Given the description of an element on the screen output the (x, y) to click on. 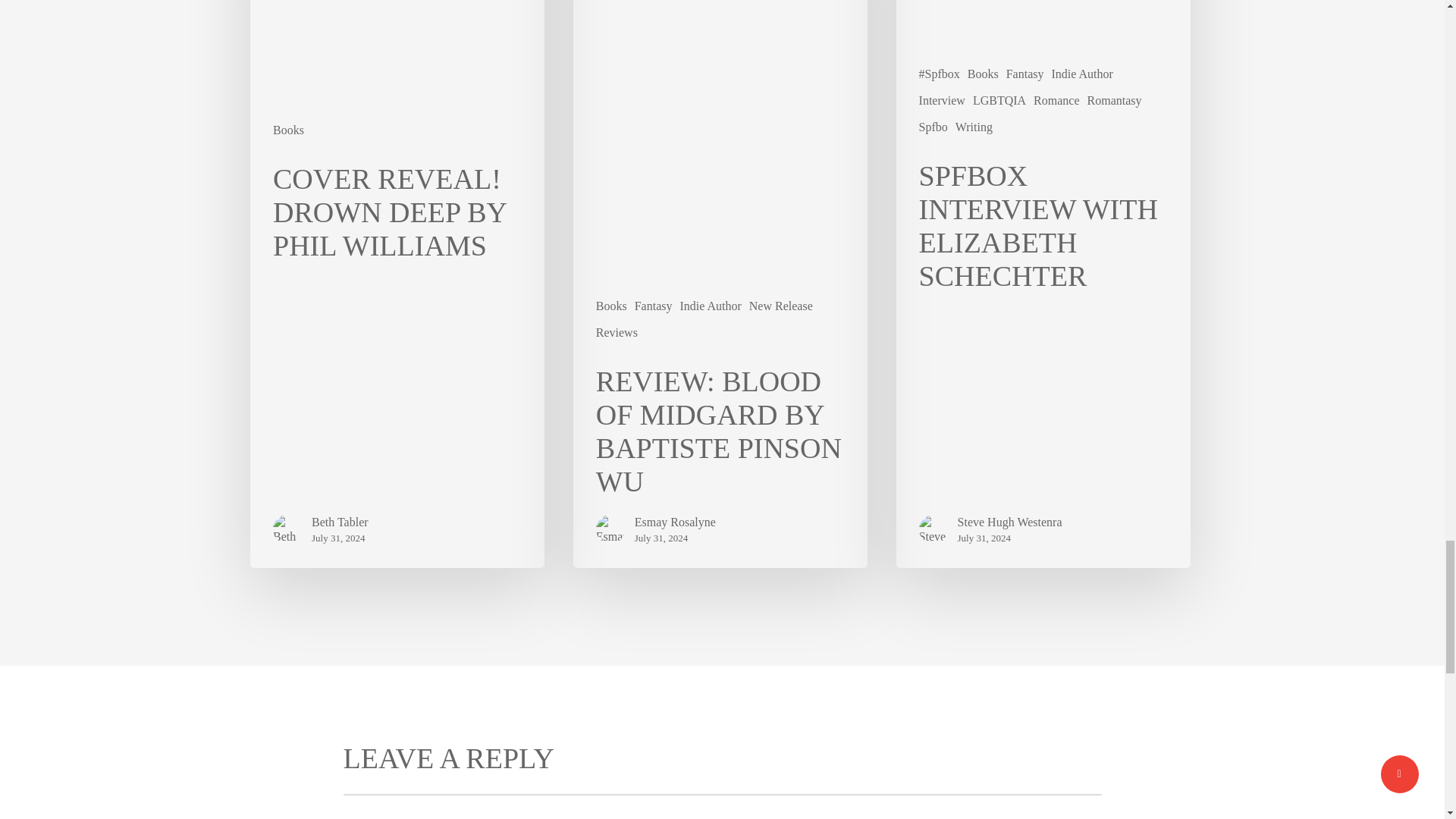
Comment Form (721, 806)
Reviews (616, 332)
Books (288, 130)
Indie Author (710, 306)
Books (611, 306)
Fantasy (653, 306)
Beth Tabler (339, 522)
Esmay Rosalyne (675, 522)
New Release (780, 306)
